Given the description of an element on the screen output the (x, y) to click on. 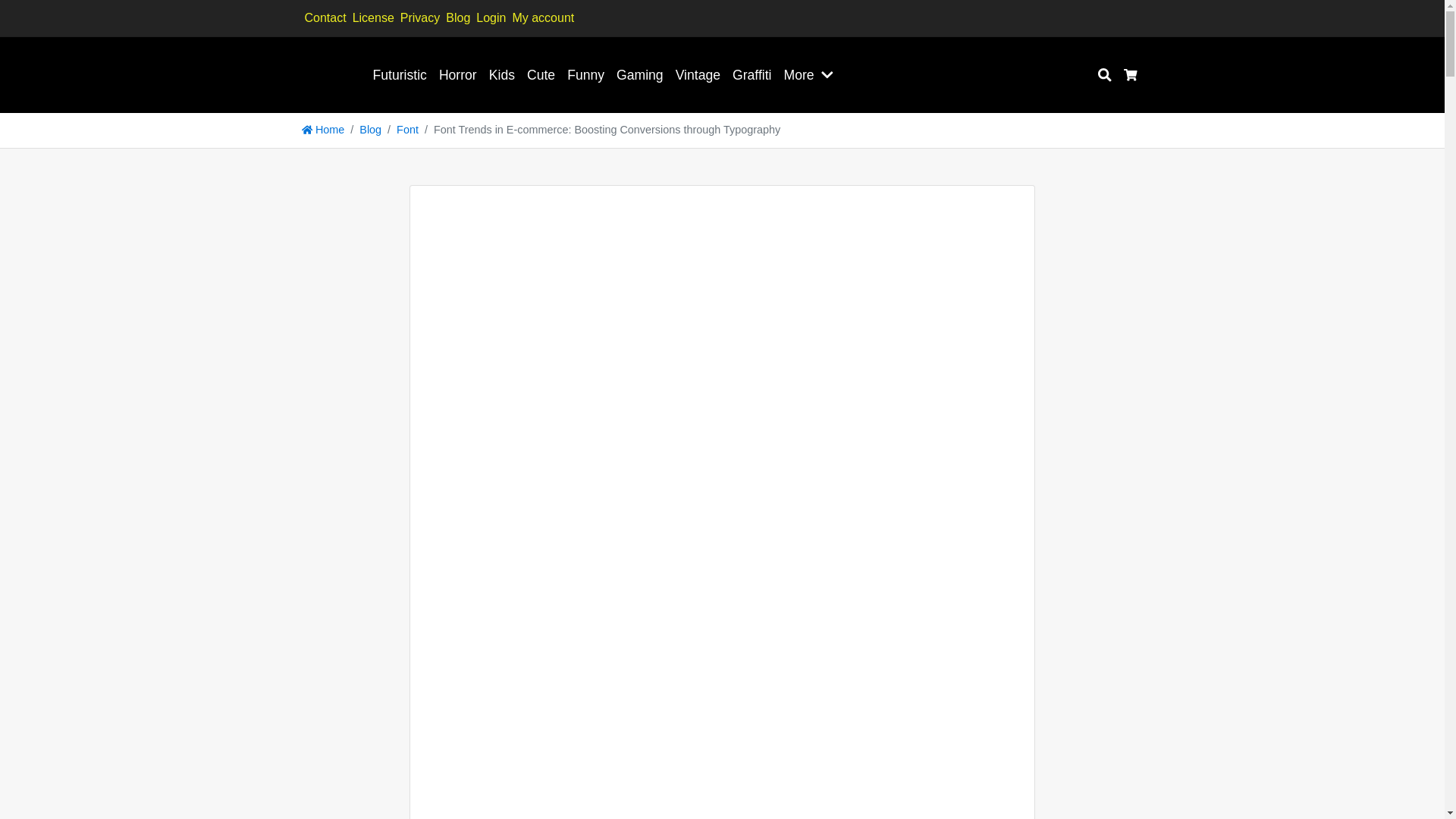
Futuristic (399, 74)
Graffiti (751, 74)
Contact (325, 17)
License (373, 17)
Kids (502, 74)
Cute (540, 74)
Login (490, 17)
Gaming (639, 74)
Home (323, 129)
Blog (457, 17)
